Given the description of an element on the screen output the (x, y) to click on. 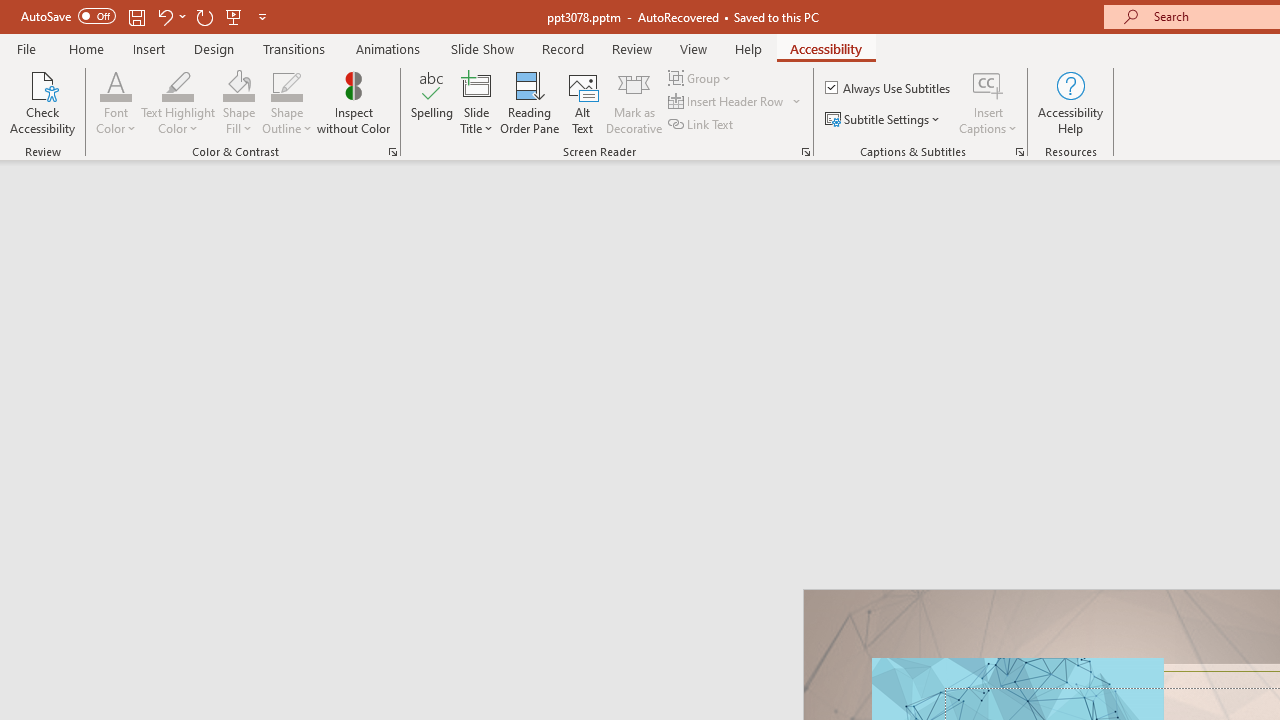
Slide Title (476, 102)
Group (701, 78)
Subtitle Settings (884, 119)
Always Use Subtitles (889, 87)
Color & Contrast (392, 151)
Shape Outline (286, 102)
Insert Captions (988, 102)
